Given the description of an element on the screen output the (x, y) to click on. 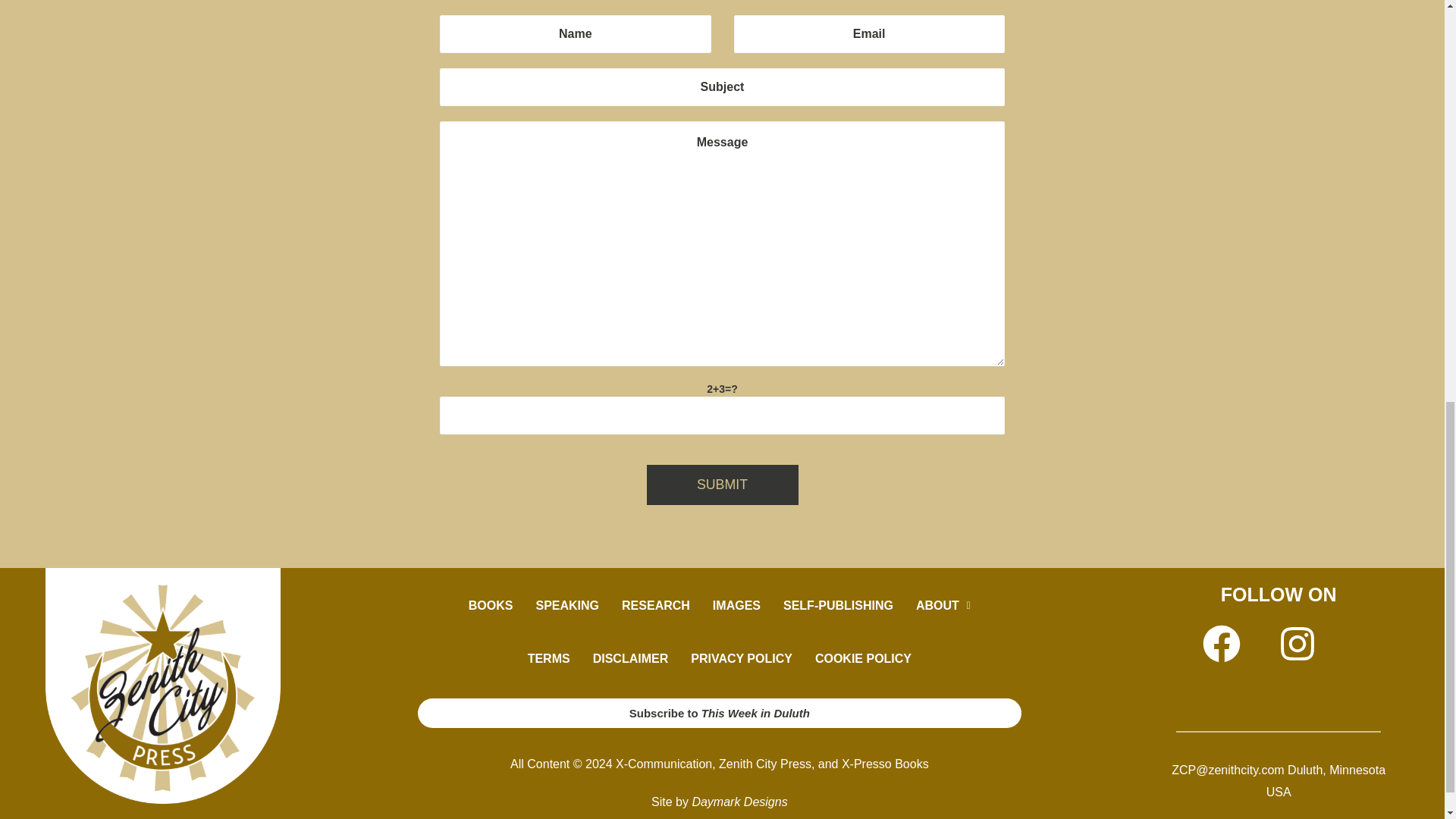
Submit (721, 485)
ABOUT (942, 605)
IMAGES (736, 605)
SPEAKING (567, 605)
Submit (721, 485)
PRIVACY POLICY (741, 658)
DISCLAIMER (629, 658)
TERMS (548, 658)
COOKIE POLICY (863, 658)
SELF-PUBLISHING (837, 605)
RESEARCH (655, 605)
BOOKS (490, 605)
